Given the description of an element on the screen output the (x, y) to click on. 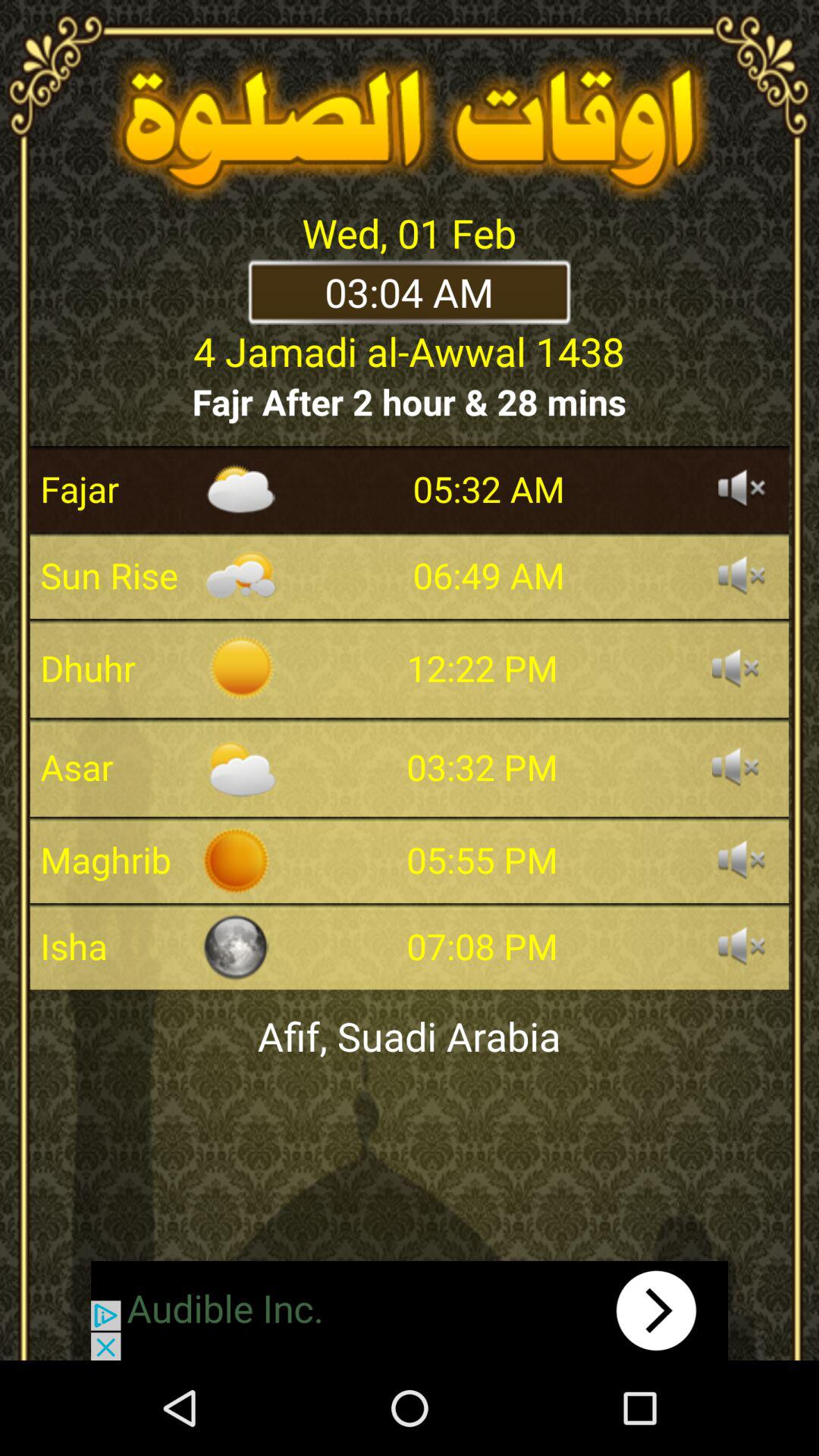
mute/unmute option (735, 668)
